Given the description of an element on the screen output the (x, y) to click on. 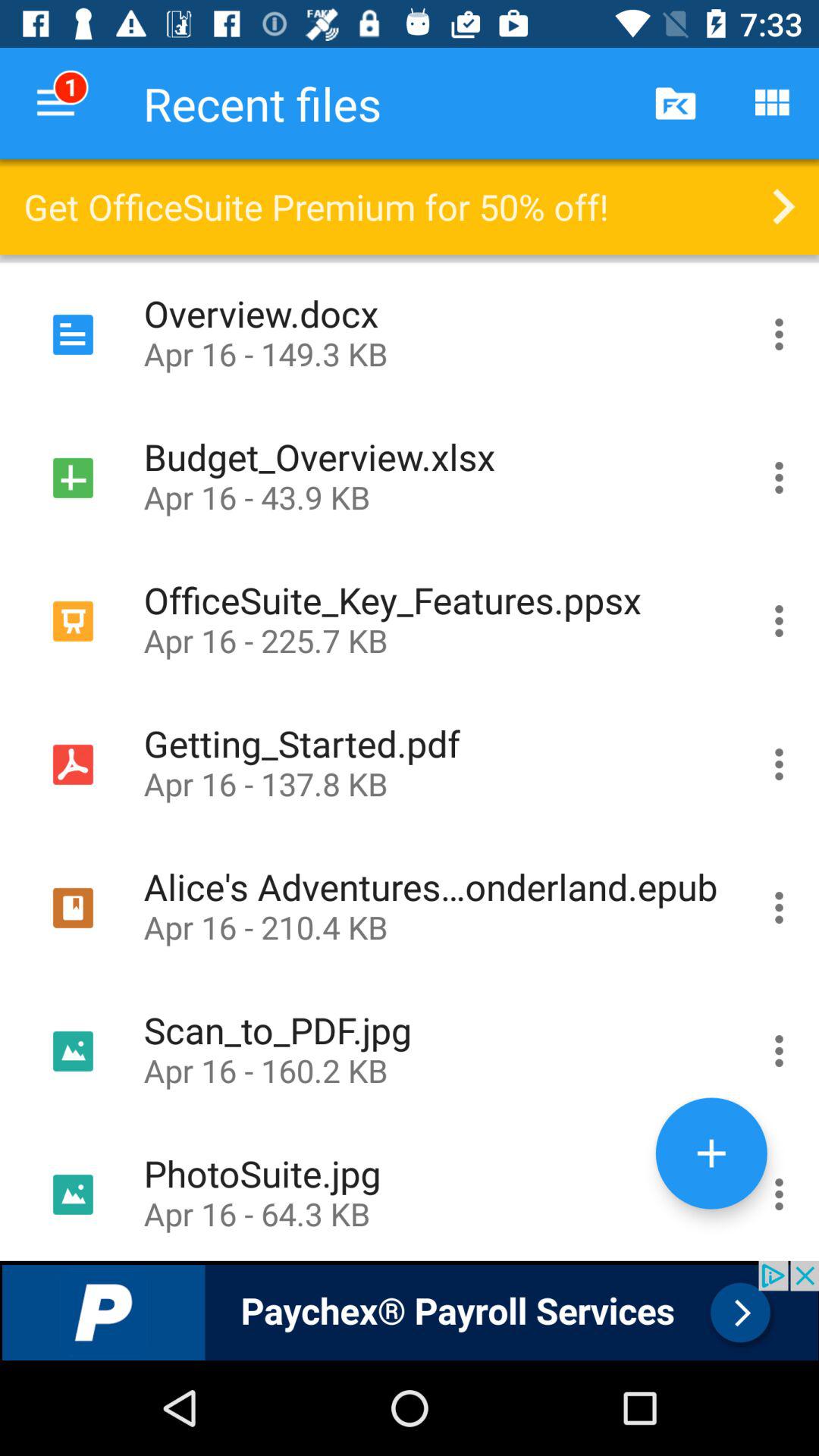
add more (711, 1153)
